Given the description of an element on the screen output the (x, y) to click on. 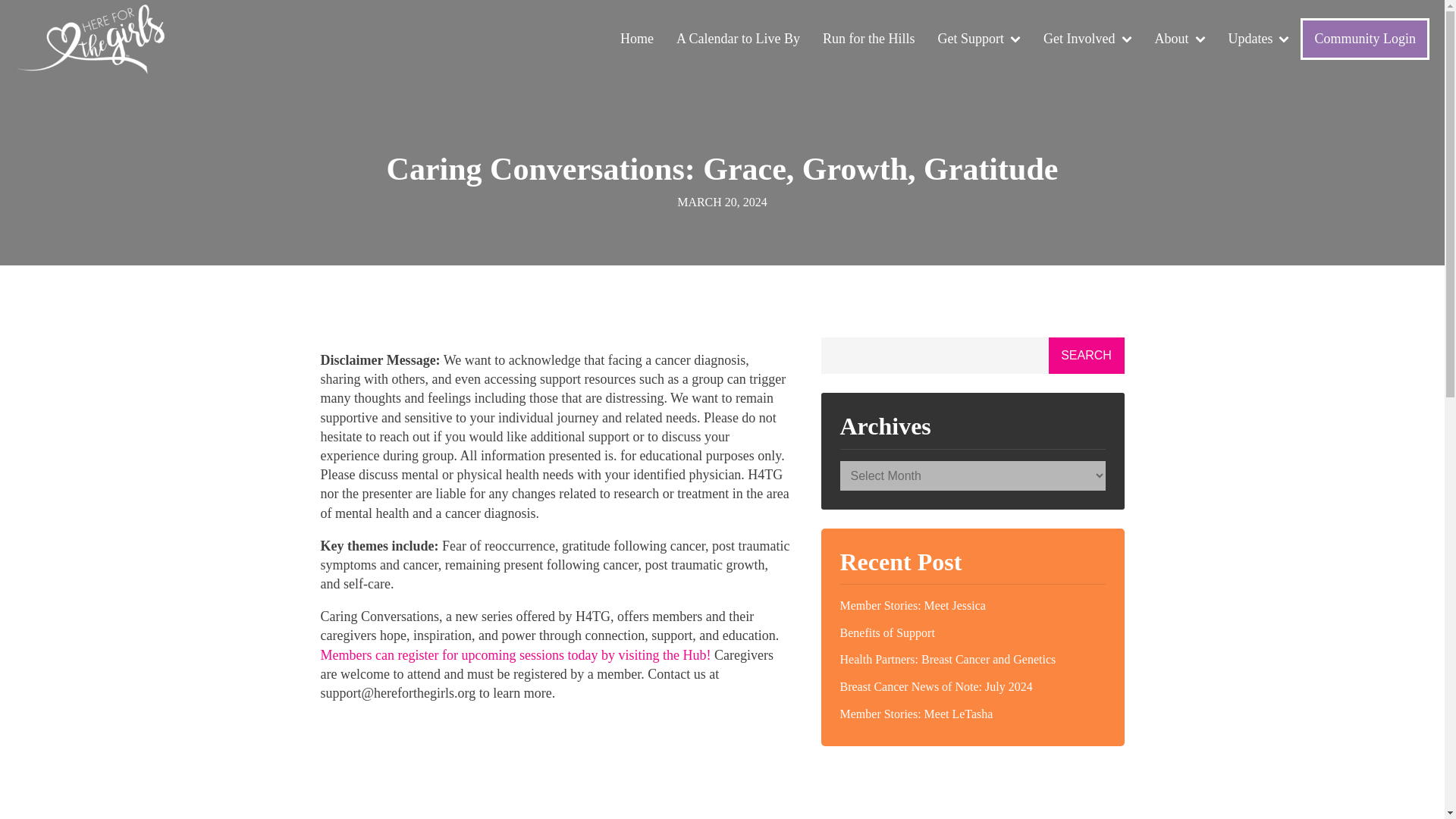
Get Involved (1087, 38)
Get Support (979, 38)
Member Stories: Meet Jessica (972, 605)
About (1179, 38)
Community Login (1364, 38)
Run for the Hills (868, 38)
Home (636, 38)
Get Involved (1087, 38)
Community Login (1364, 38)
Home (636, 38)
Member Stories: Meet LeTasha (972, 714)
Caring Conversations Recap - January - March 2024 (555, 767)
Breast Cancer News of Note: July 2024 (972, 687)
Health Partners: Breast Cancer and Genetics (972, 659)
Get Support (979, 38)
